Given the description of an element on the screen output the (x, y) to click on. 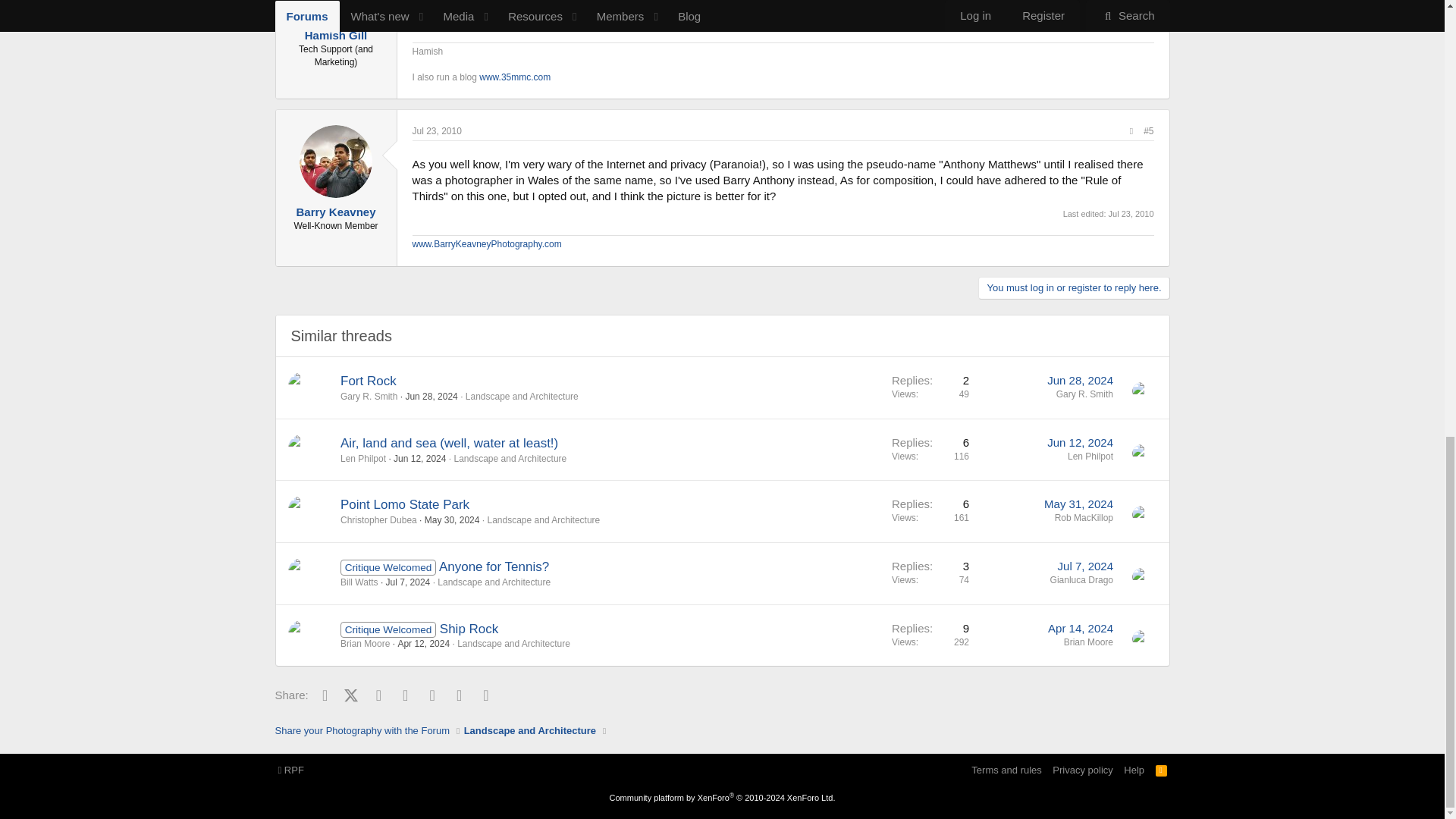
First message reaction score: 0 (930, 387)
Jul 23, 2010 at 1:19 PM (436, 131)
Jul 23, 2010 at 1:25 PM (1131, 213)
Jun 12, 2024 at 6:23 PM (419, 458)
Jun 12, 2024 at 9:59 PM (1079, 441)
May 30, 2024 at 7:40 PM (452, 520)
Jun 28, 2024 at 12:47 AM (430, 396)
Jun 28, 2024 at 3:54 AM (1079, 379)
First message reaction score: 7 (930, 448)
